Given the description of an element on the screen output the (x, y) to click on. 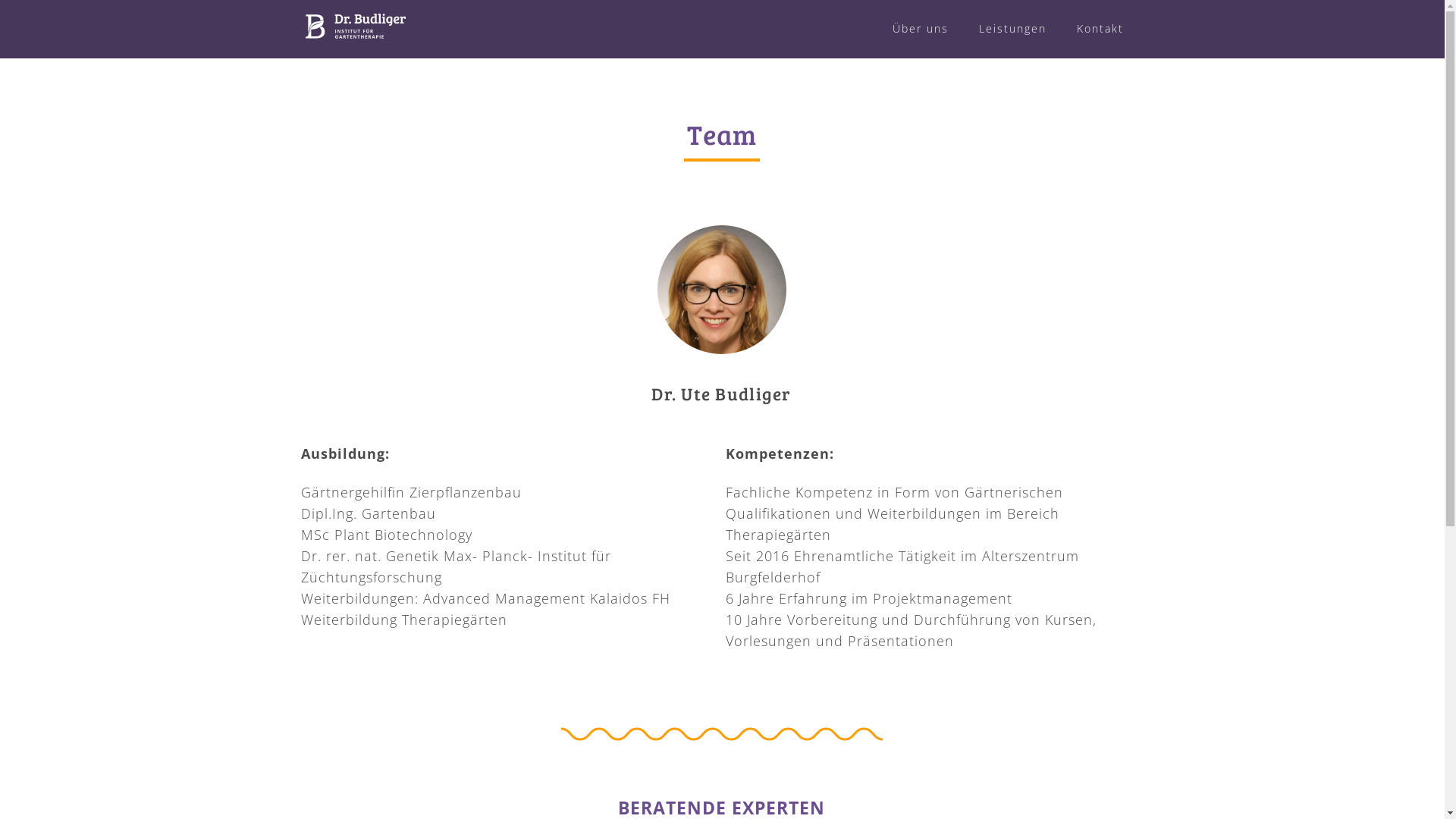
Kontakt Element type: text (1099, 28)
Leistungen Element type: text (1012, 28)
Skip to content Element type: text (0, 0)
